Given the description of an element on the screen output the (x, y) to click on. 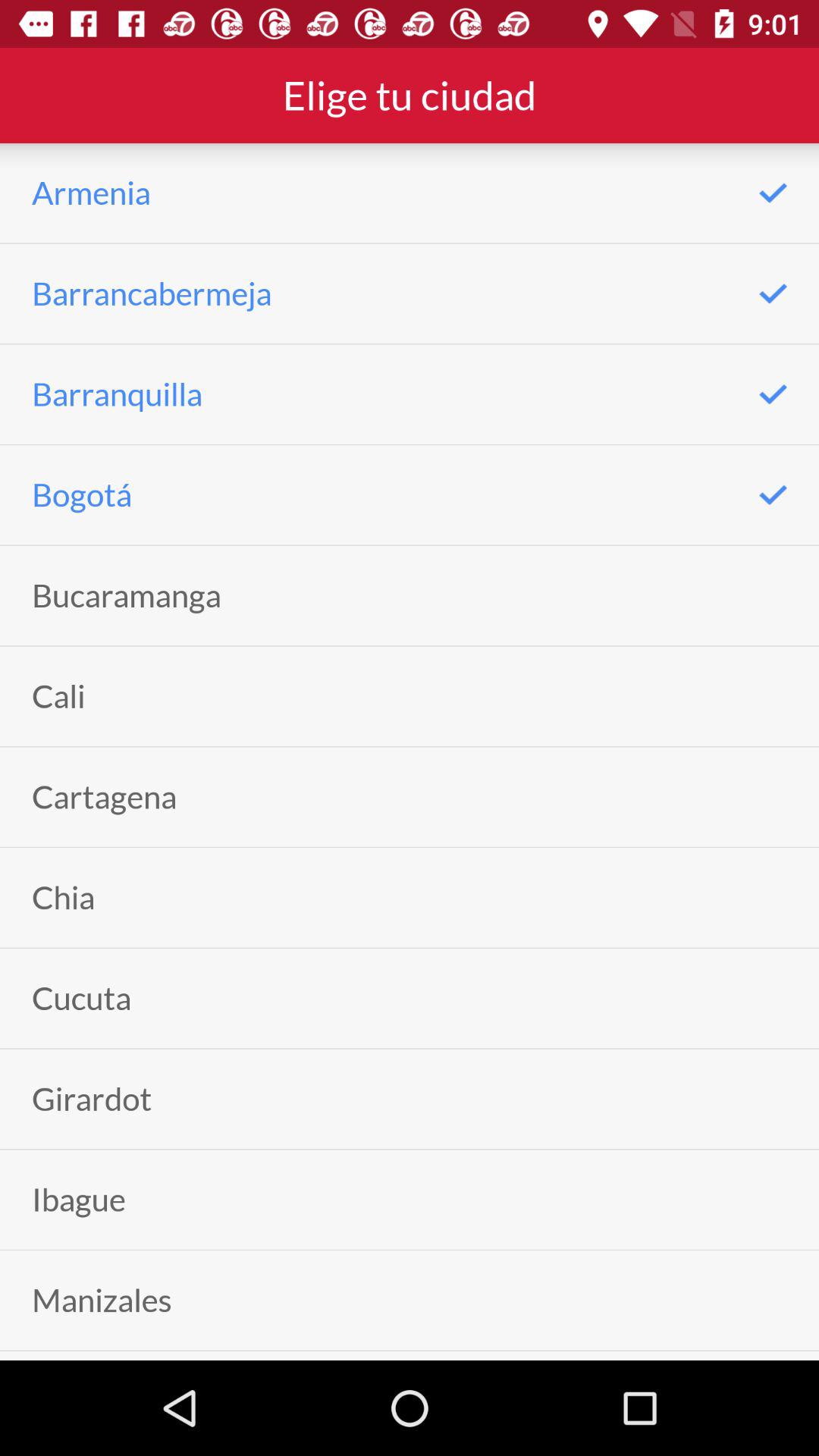
turn off icon below the cali icon (103, 797)
